Given the description of an element on the screen output the (x, y) to click on. 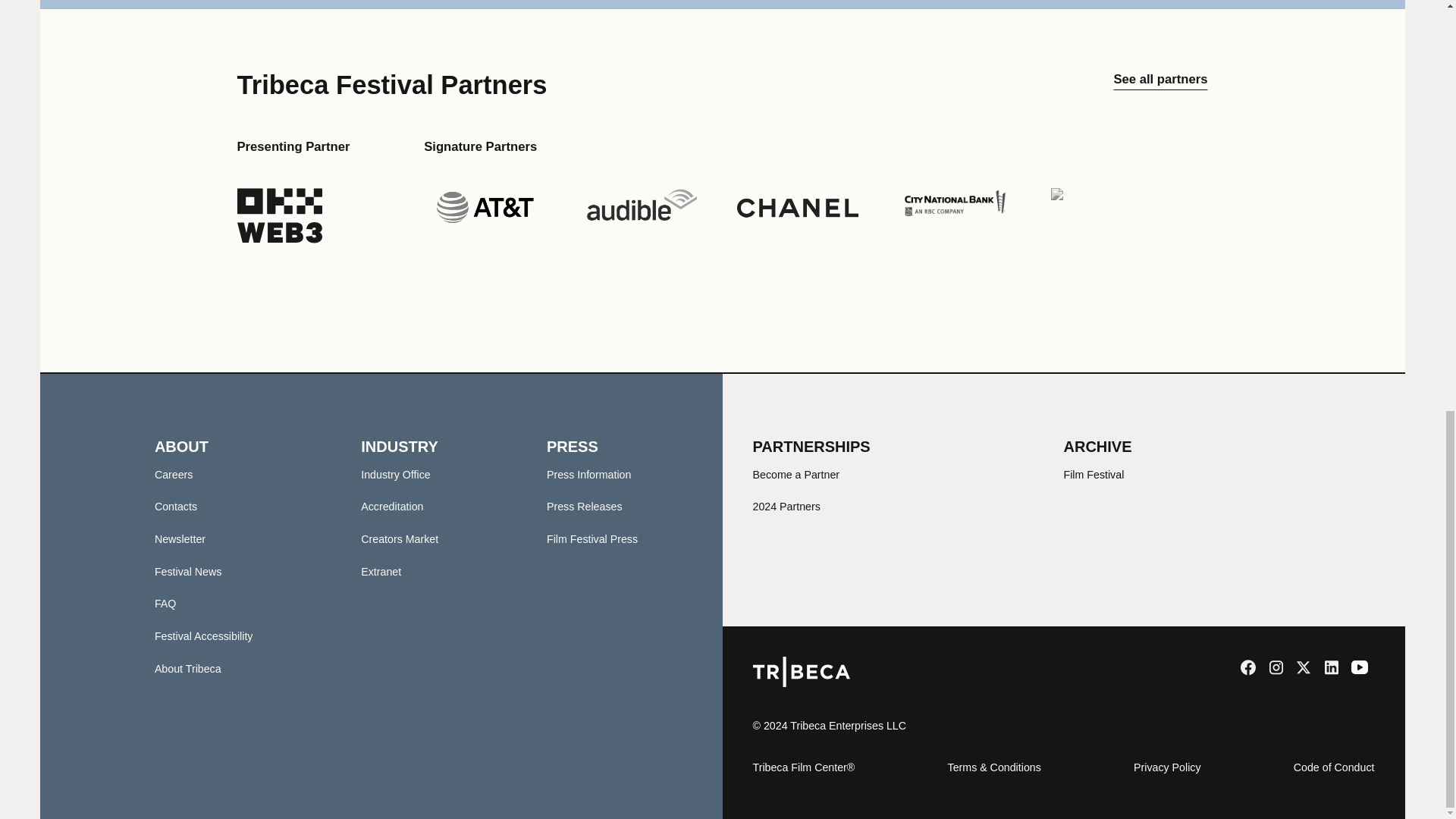
Creators Market (399, 539)
Contacts (175, 506)
Accreditation (392, 506)
Industry Office (395, 474)
About Tribeca (187, 668)
Careers (173, 474)
Festival News (188, 571)
FAQ (165, 603)
Newsletter (179, 539)
See all partners (1160, 84)
Festival Accessibility (203, 635)
